Given the description of an element on the screen output the (x, y) to click on. 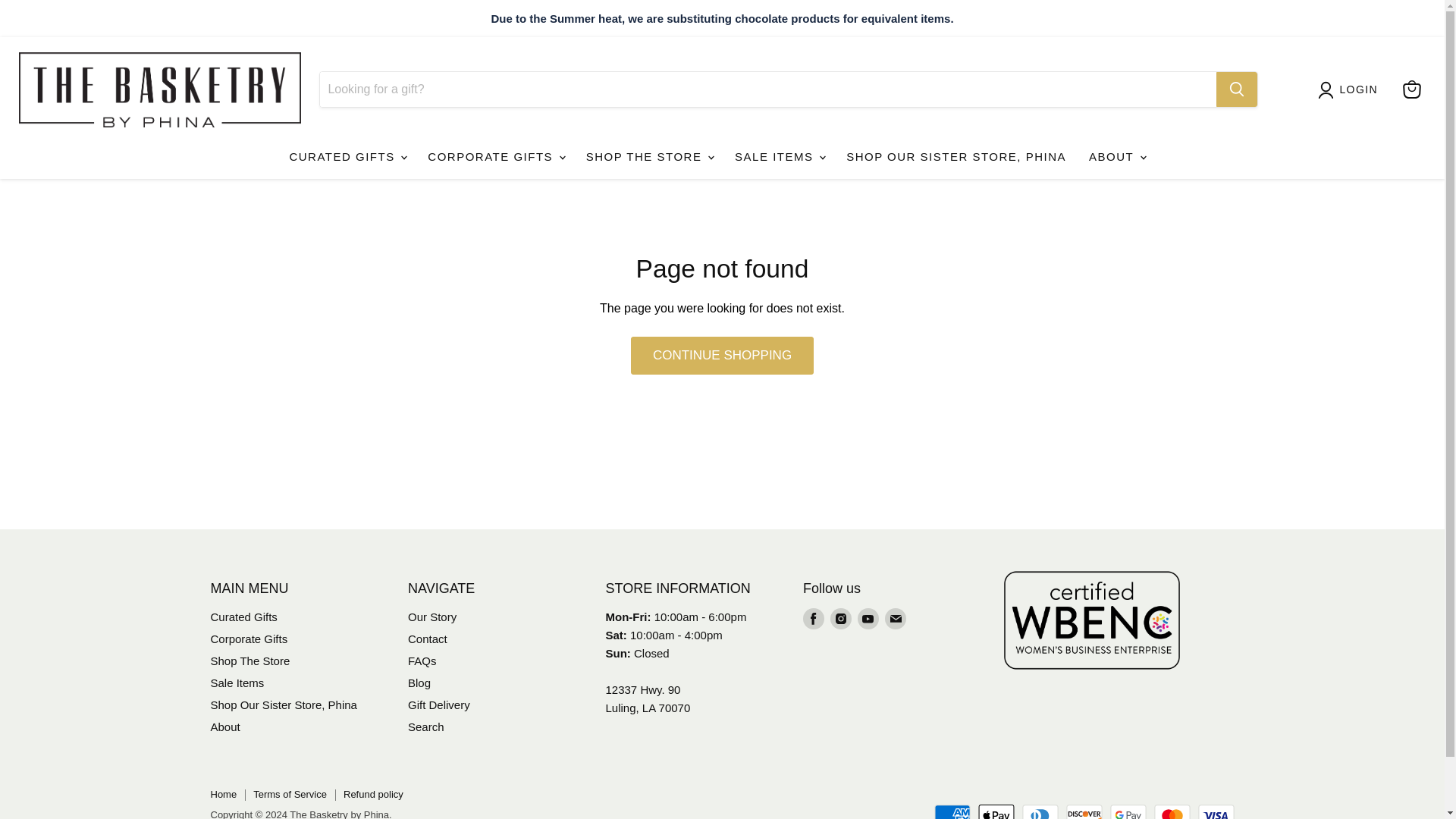
Youtube (868, 618)
LOGIN (1358, 89)
American Express (952, 811)
Facebook (813, 618)
Google Pay (1128, 811)
Visa (1216, 811)
SHOP THE STORE (649, 156)
CORPORATE GIFTS (494, 156)
Email (895, 618)
Discover (1083, 811)
